Given the description of an element on the screen output the (x, y) to click on. 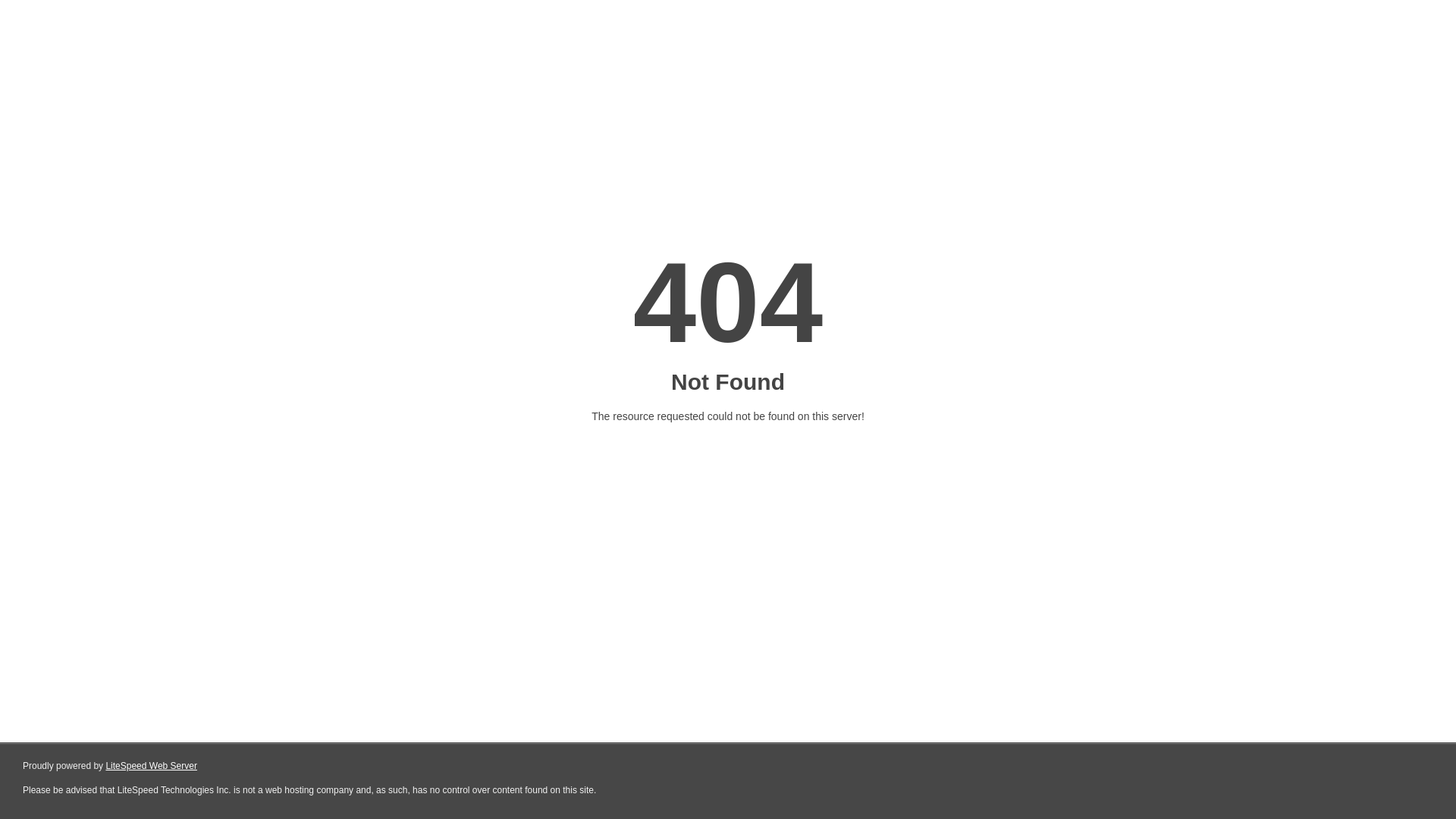
LiteSpeed Web Server Element type: text (151, 765)
